Given the description of an element on the screen output the (x, y) to click on. 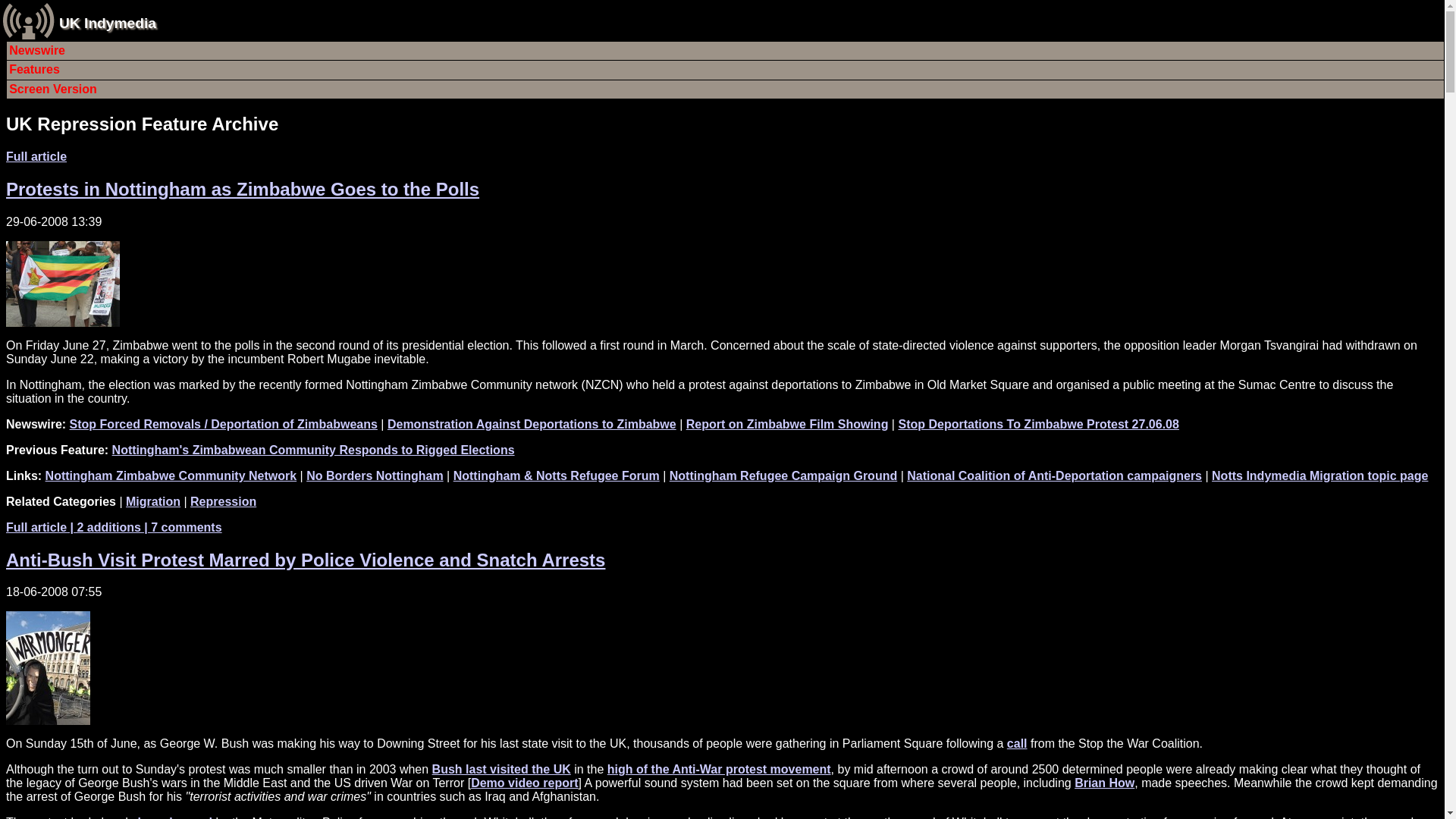
Migration (152, 501)
Brian How (1104, 782)
call (1017, 743)
Demonstration Against Deportations to Zimbabwe (532, 423)
Report on Zimbabwe Film Showing (786, 423)
National Coalition of Anti-Deportation campaigners (1054, 475)
Stop Deportations To Zimbabwe Protest 27.06.08 (1037, 423)
UK Indymedia (107, 23)
Notts Indymedia Migration topic page (1319, 475)
Bush last visited the UK (501, 768)
Protests in Nottingham as Zimbabwe Goes to the Polls (242, 189)
Nottingham Refugee Campaign Ground (782, 475)
been banned (174, 817)
Demo video report (524, 782)
